Given the description of an element on the screen output the (x, y) to click on. 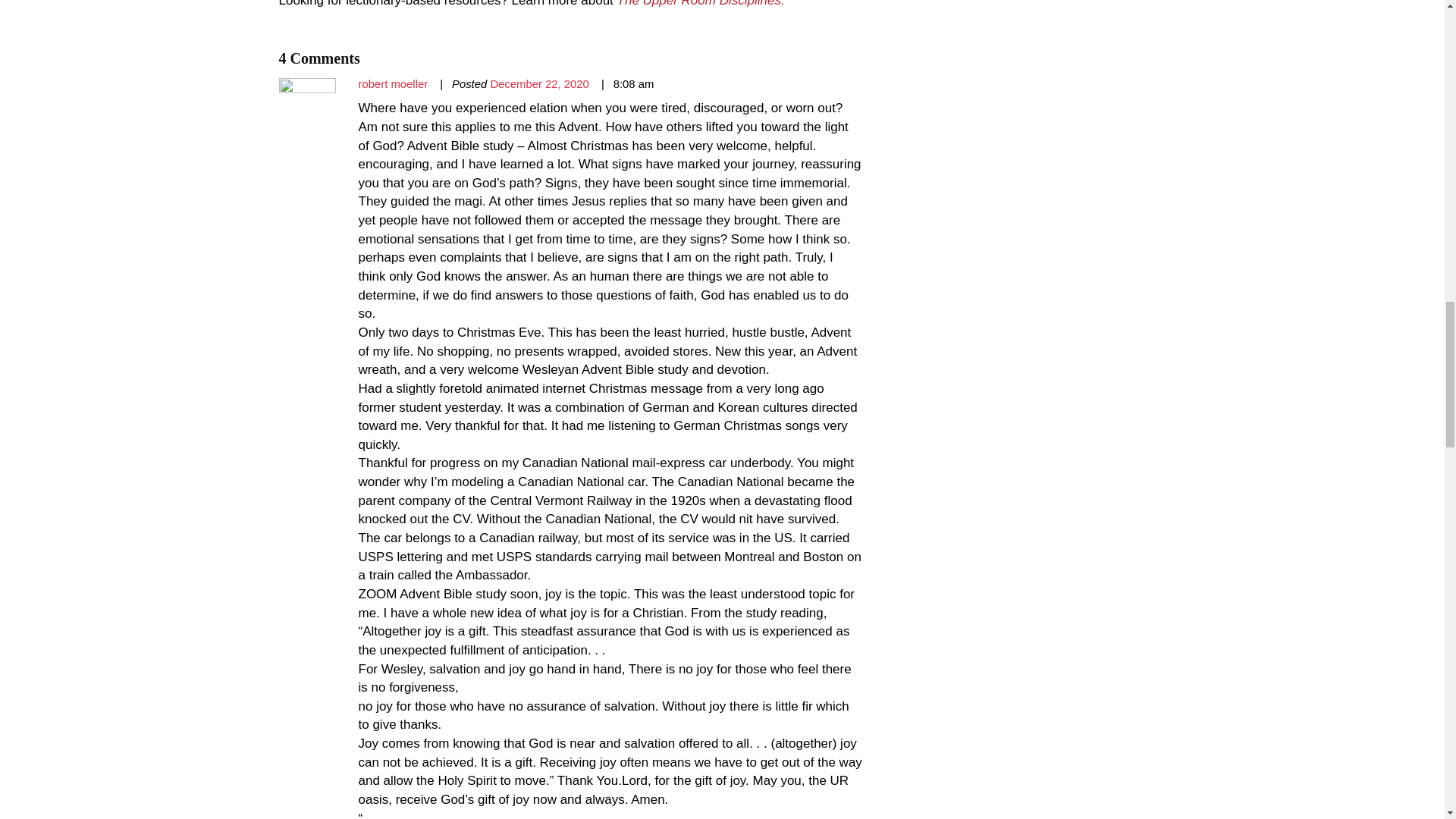
The Upper Room Disciplines. (700, 3)
